Given the description of an element on the screen output the (x, y) to click on. 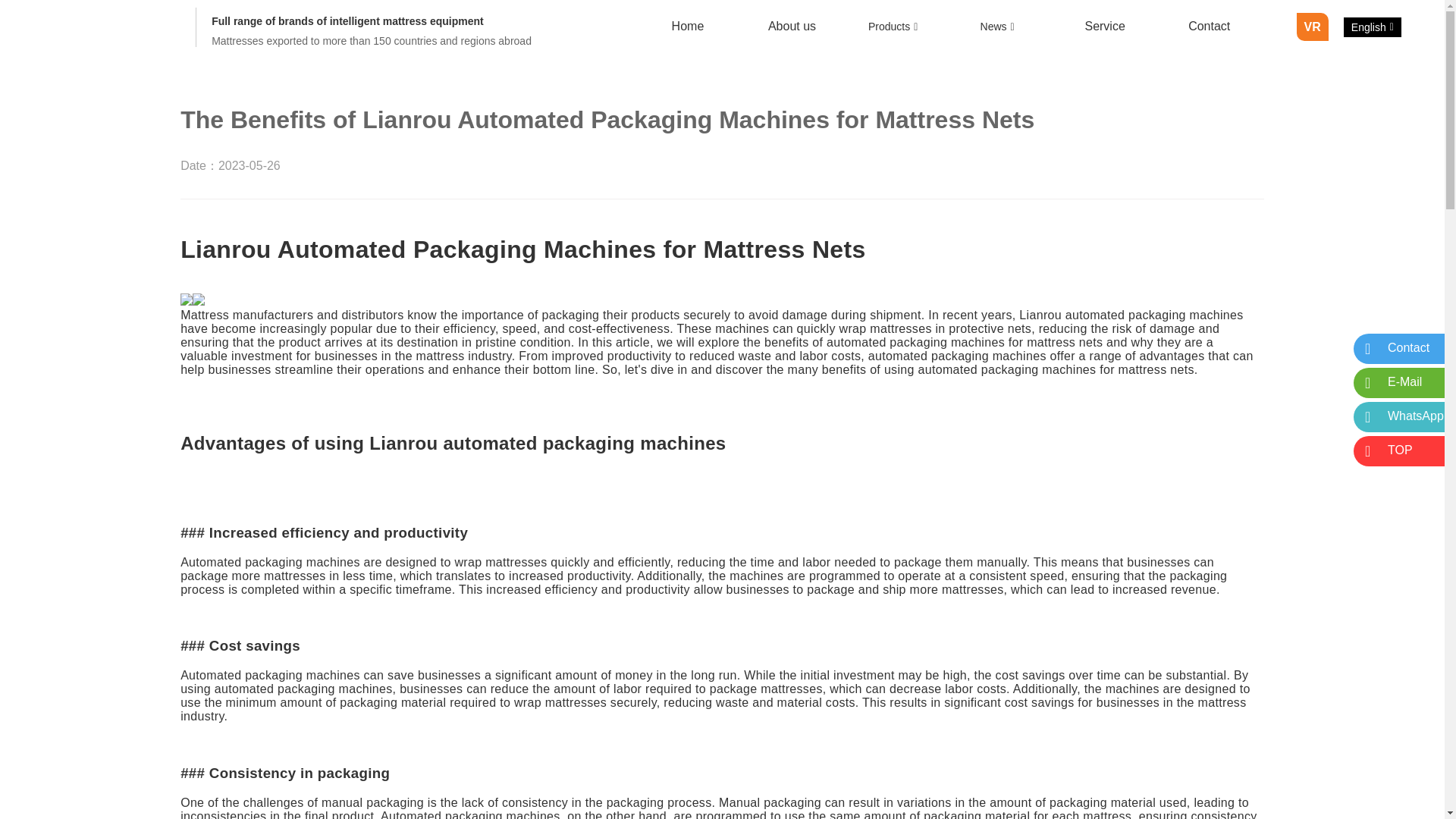
News  (1000, 26)
VR (1312, 26)
Contact (1209, 26)
Products  (895, 26)
About us (791, 26)
Home (687, 26)
Service (1104, 26)
